Given the description of an element on the screen output the (x, y) to click on. 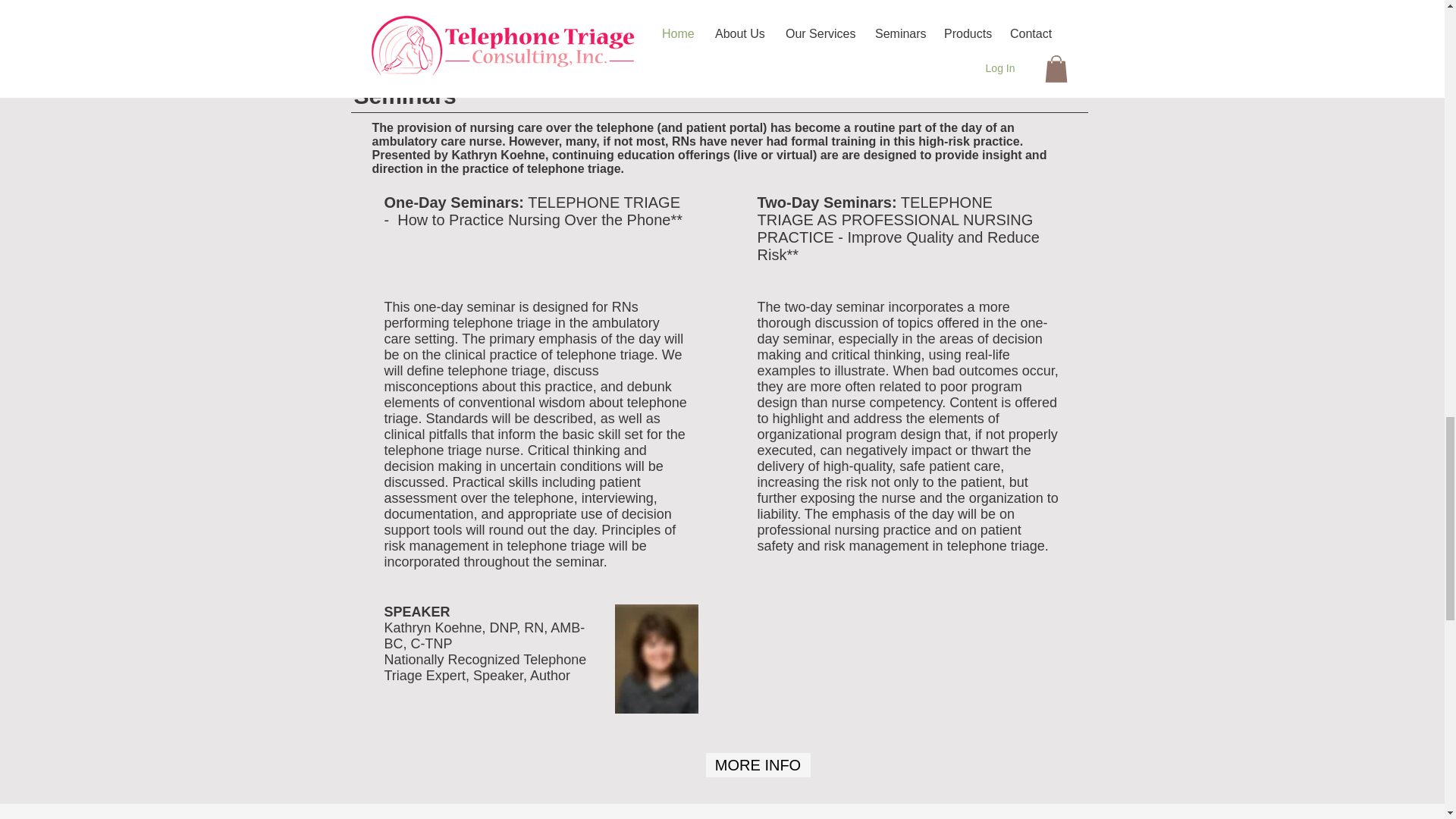
MORE INFO (756, 764)
